Given the description of an element on the screen output the (x, y) to click on. 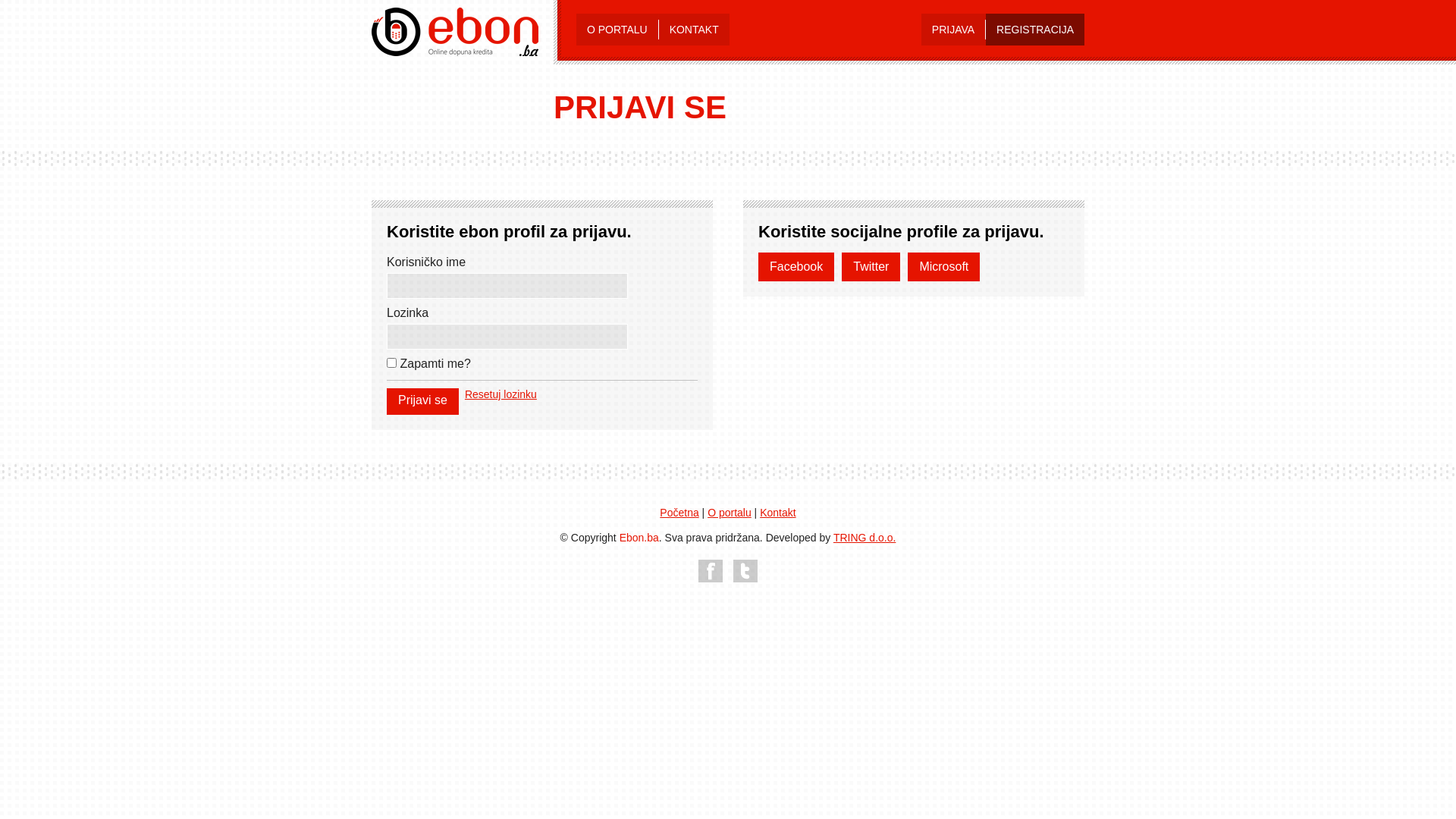
TRING d.o.o. Element type: text (864, 537)
KONTAKT Element type: text (693, 29)
Twitter Element type: text (870, 266)
Microsoft Element type: text (943, 266)
Facebook Element type: text (796, 266)
O portalu Element type: text (729, 512)
Resetuj lozinku Element type: text (500, 394)
Prijavi se Element type: text (422, 401)
Kontakt Element type: text (777, 512)
O PORTALU Element type: text (617, 29)
REGISTRACIJA Element type: text (1034, 29)
PRIJAVA Element type: text (953, 29)
